Given the description of an element on the screen output the (x, y) to click on. 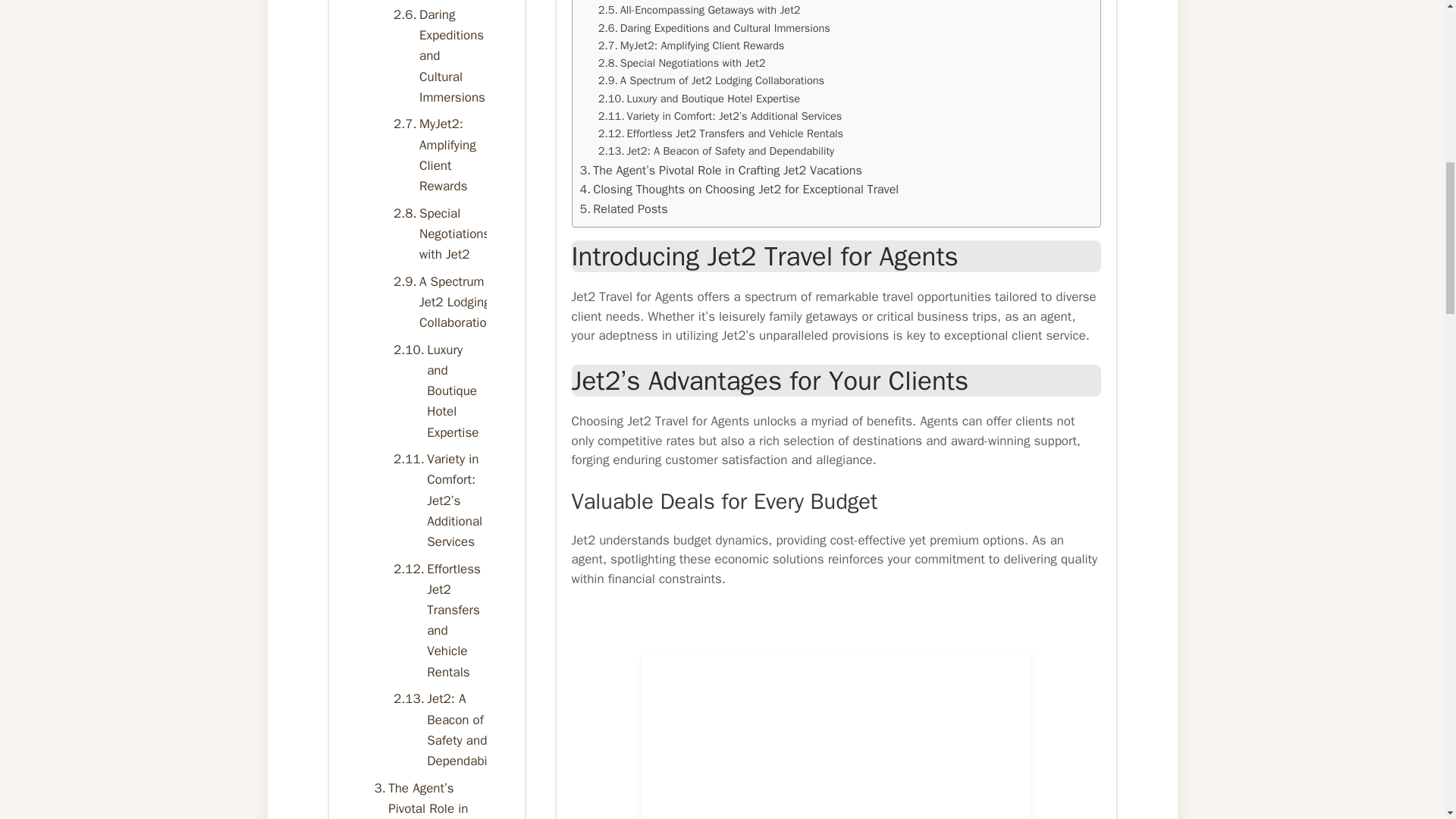
Luxury and Boutique Hotel Expertise (698, 98)
Effortless Jet2 Transfers and Vehicle Rentals (720, 133)
A Spectrum of Jet2 Lodging Collaborations (711, 80)
Special Negotiations with Jet2 (681, 63)
All-Encompassing Getaways with Jet2 (699, 9)
MyJet2: Amplifying Client Rewards (691, 45)
Closing Thoughts on Choosing Jet2 for Exceptional Travel (738, 189)
Daring Expeditions and Cultural Immersions (713, 27)
A Spectrum of Jet2 Lodging Collaborations (711, 80)
Jet2: A Beacon of Safety and Dependability (716, 150)
